Given the description of an element on the screen output the (x, y) to click on. 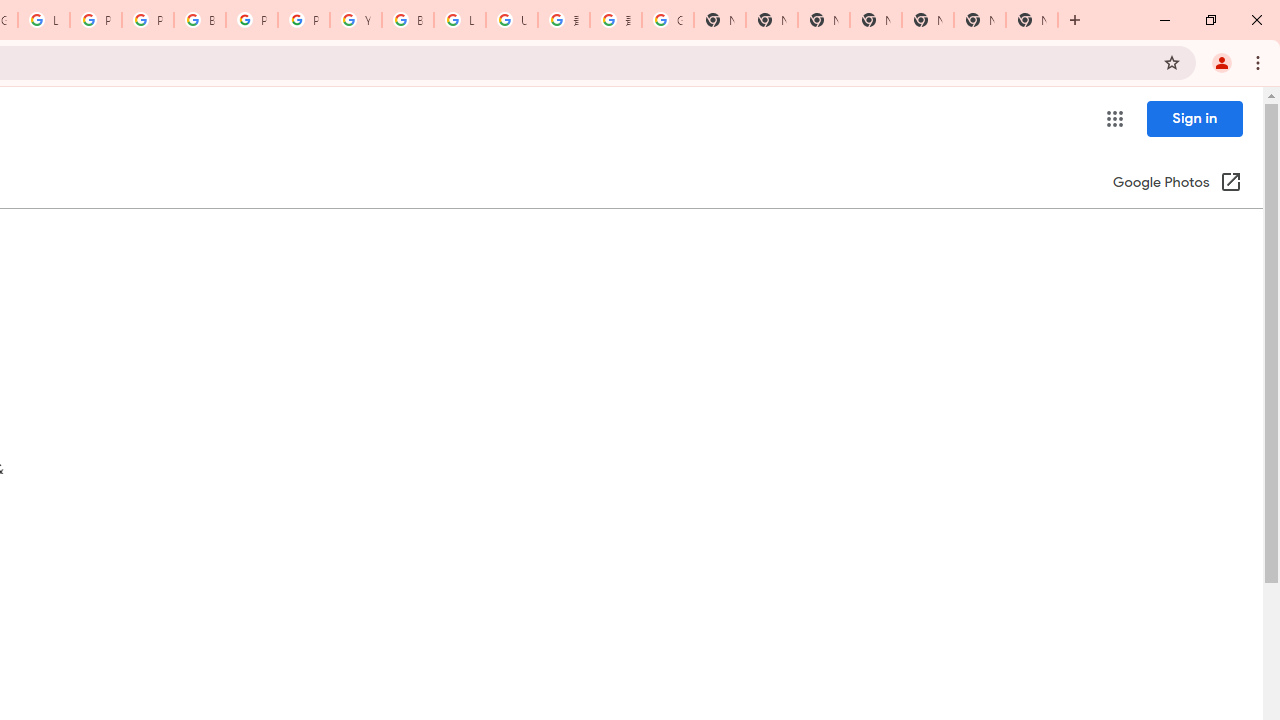
Google Images (667, 20)
New Tab (1032, 20)
Privacy Help Center - Policies Help (147, 20)
YouTube (355, 20)
Google Photos (Open in a new window) (1177, 183)
